Given the description of an element on the screen output the (x, y) to click on. 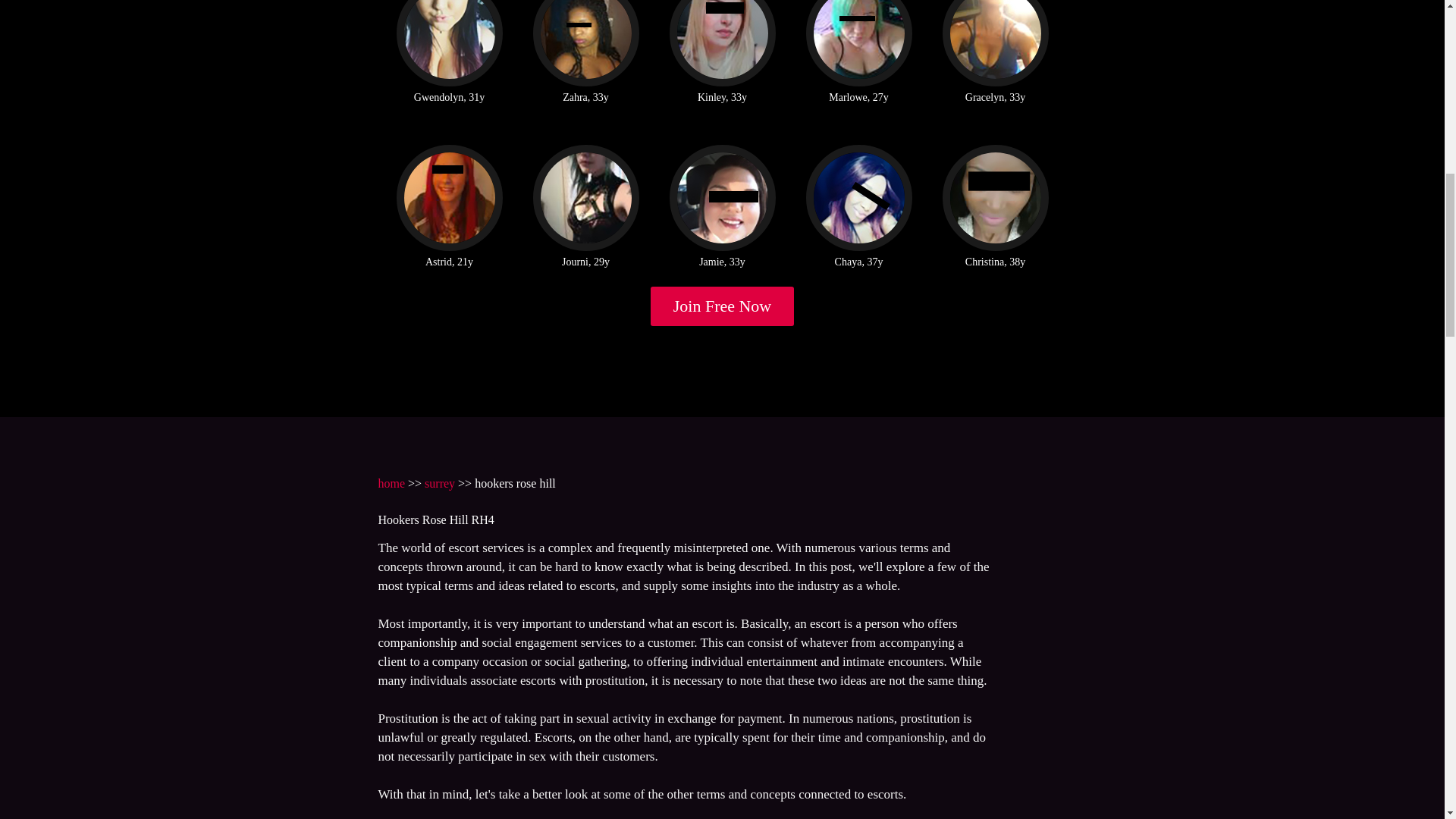
Join (722, 305)
surrey (439, 482)
Join Free Now (722, 305)
home (390, 482)
